Given the description of an element on the screen output the (x, y) to click on. 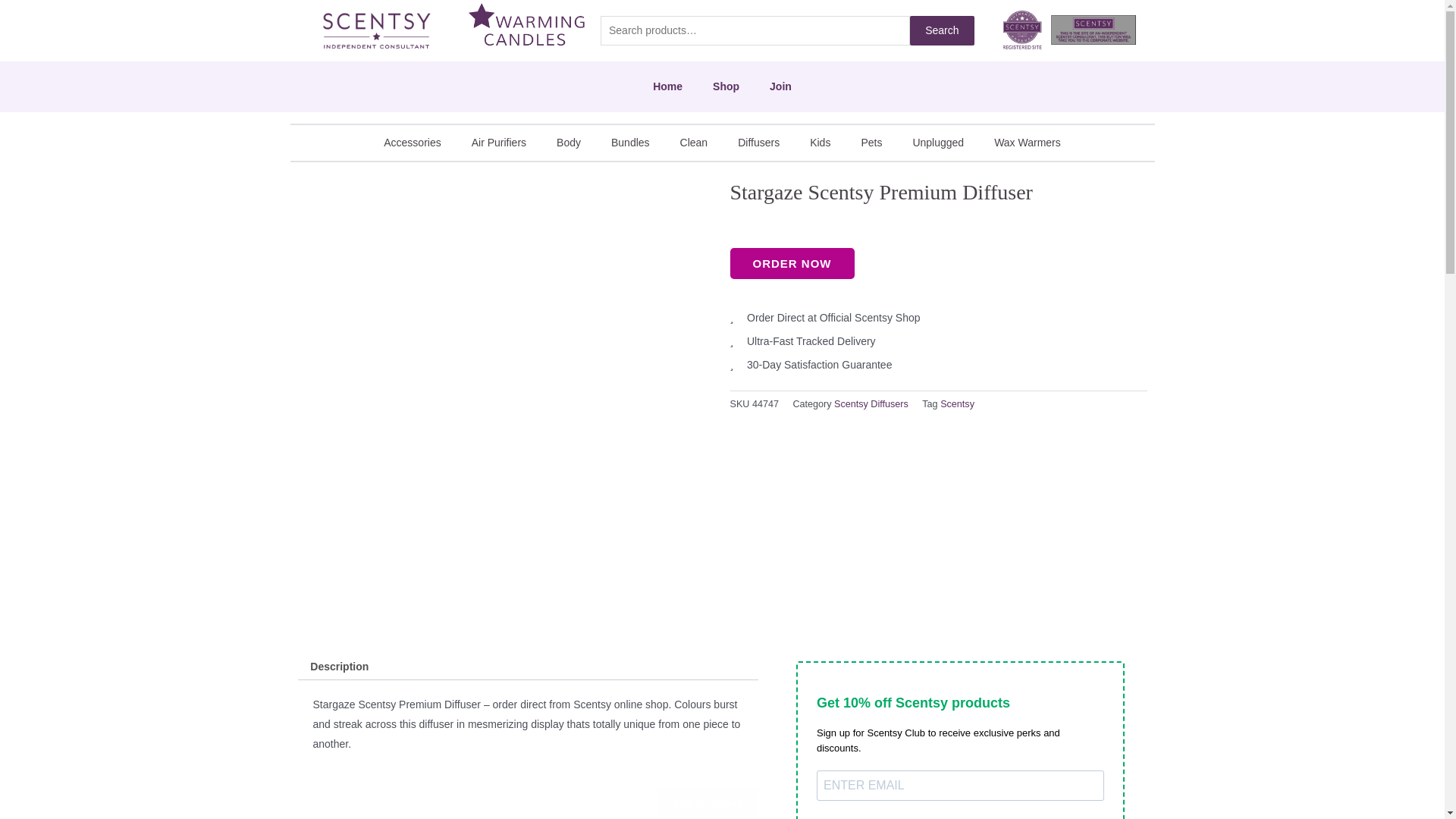
Home (667, 86)
1 (630, 802)
Search (942, 30)
